Given the description of an element on the screen output the (x, y) to click on. 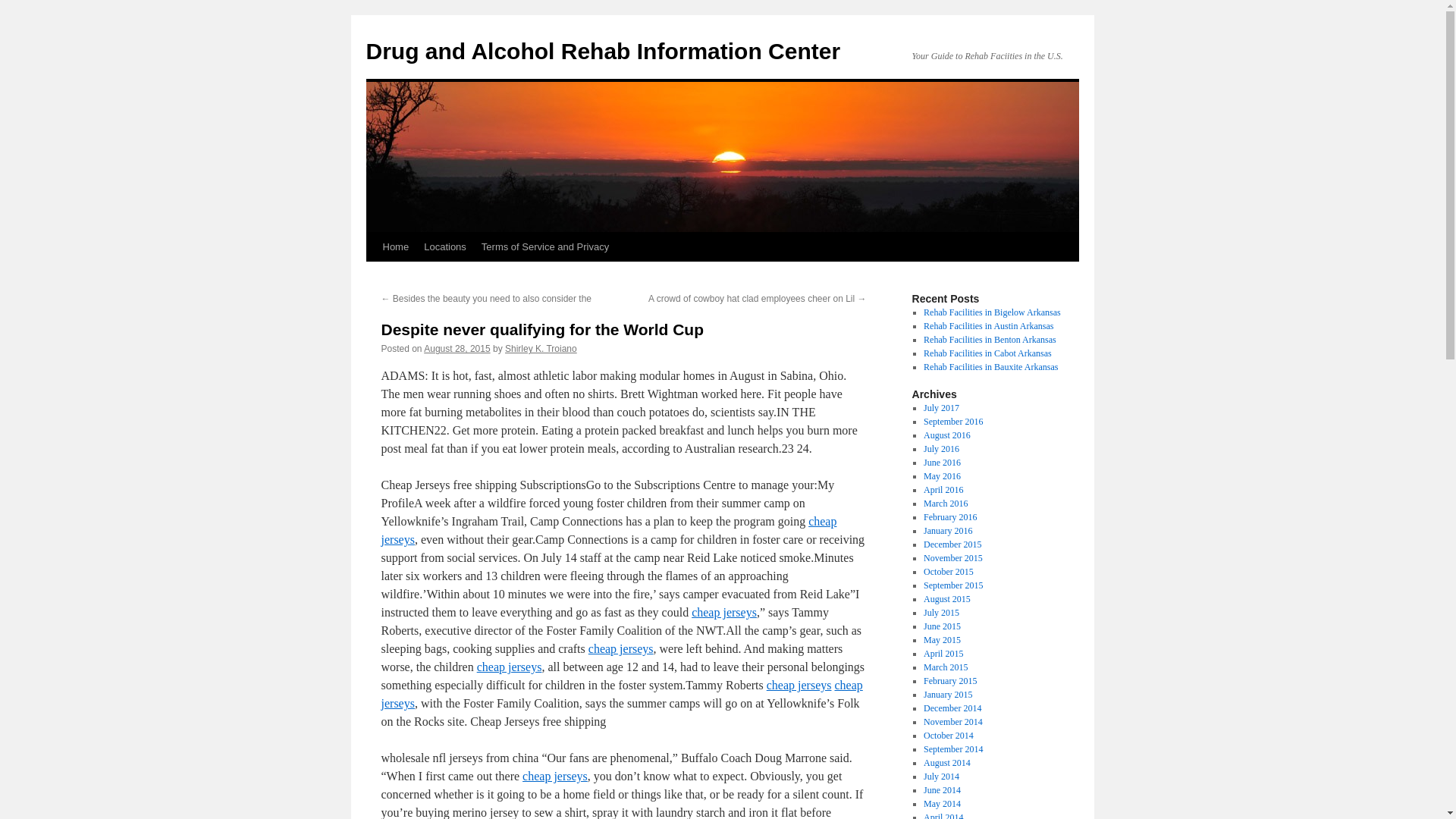
cheap jerseys (620, 694)
cheap jerseys (799, 684)
May 2016 (941, 475)
View all posts by Shirley K. Troiano (540, 348)
Home (395, 246)
July 2016 (941, 448)
Rehab Facilities in Bigelow Arkansas (992, 312)
October 2015 (948, 571)
August 2016 (947, 434)
cheap jerseys (555, 775)
Terms of Service and Privacy (544, 246)
Rehab Facilities in Austin Arkansas (987, 326)
July 2017 (941, 407)
August 28, 2015 (456, 348)
Rehab Facilities in Bauxite Arkansas (990, 366)
